Given the description of an element on the screen output the (x, y) to click on. 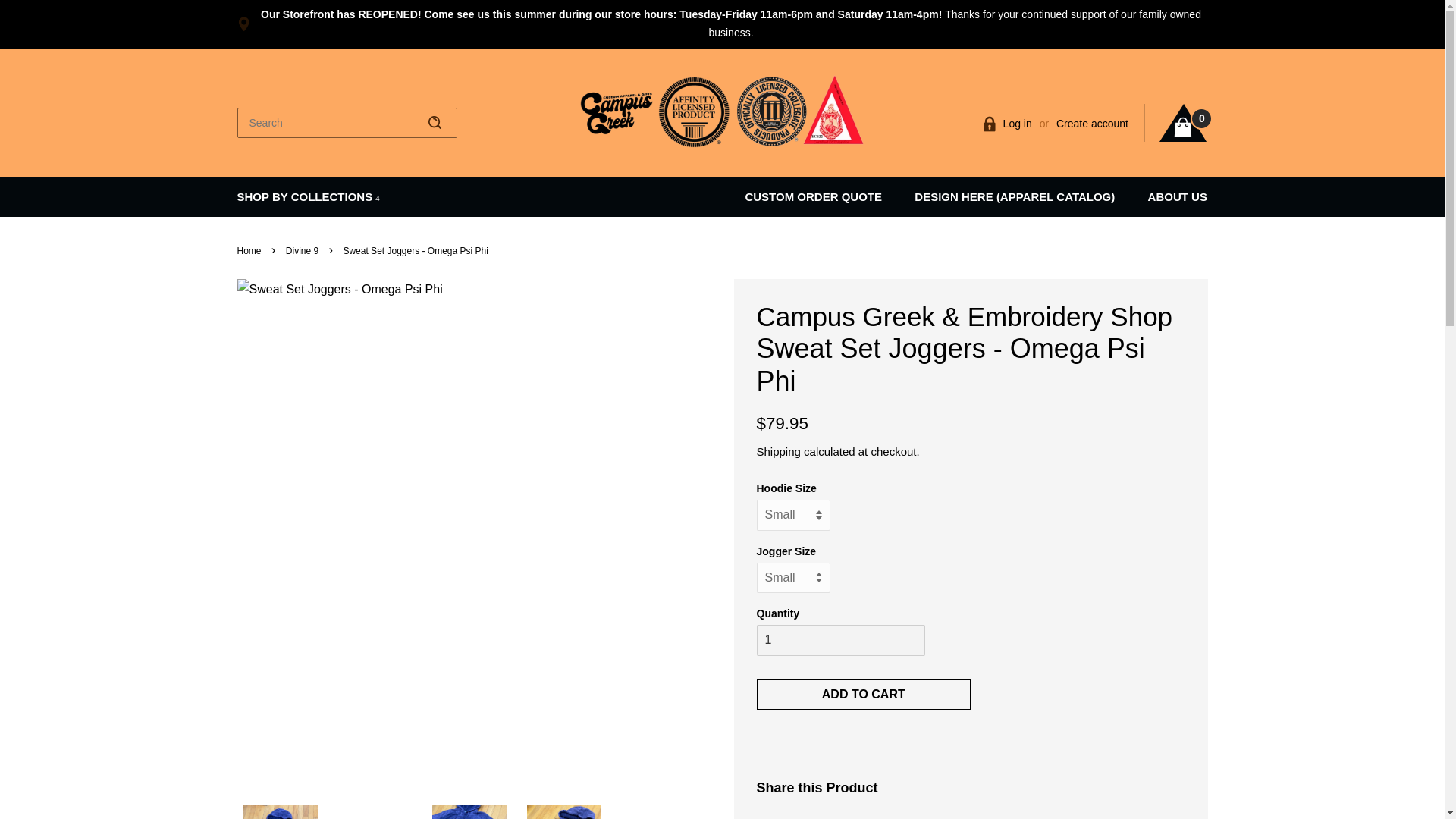
Back to the frontpage (249, 250)
CUSTOM ORDER QUOTE (820, 197)
ABOUT US (1169, 197)
1 (840, 640)
Create account (1092, 123)
Log in (1017, 123)
0 (1182, 122)
SHOP BY COLLECTIONS (306, 197)
